Given the description of an element on the screen output the (x, y) to click on. 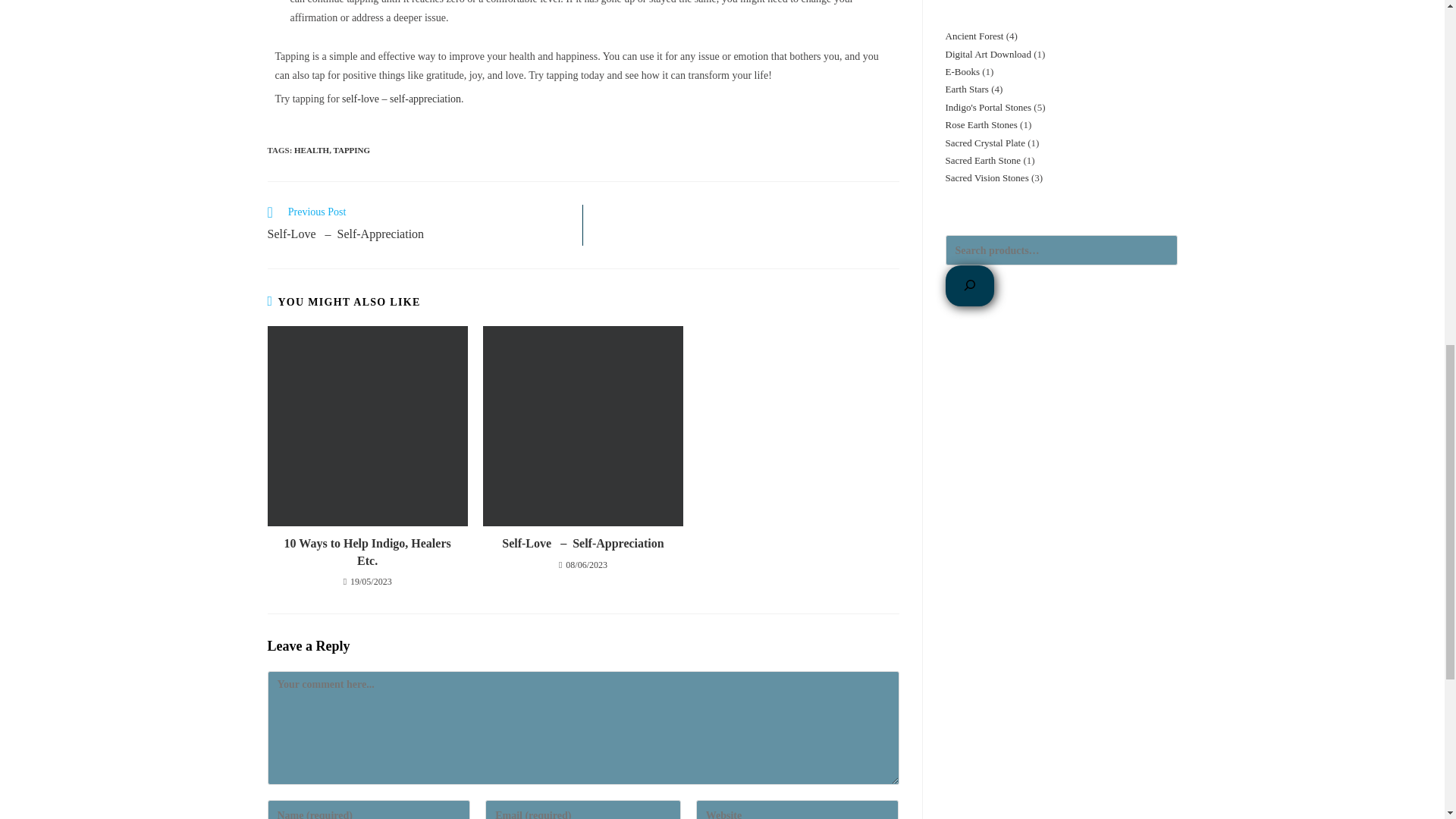
TAPPING (351, 149)
10 Ways to Help Indigo, Healers Etc. (367, 552)
HEALTH (311, 149)
